Given the description of an element on the screen output the (x, y) to click on. 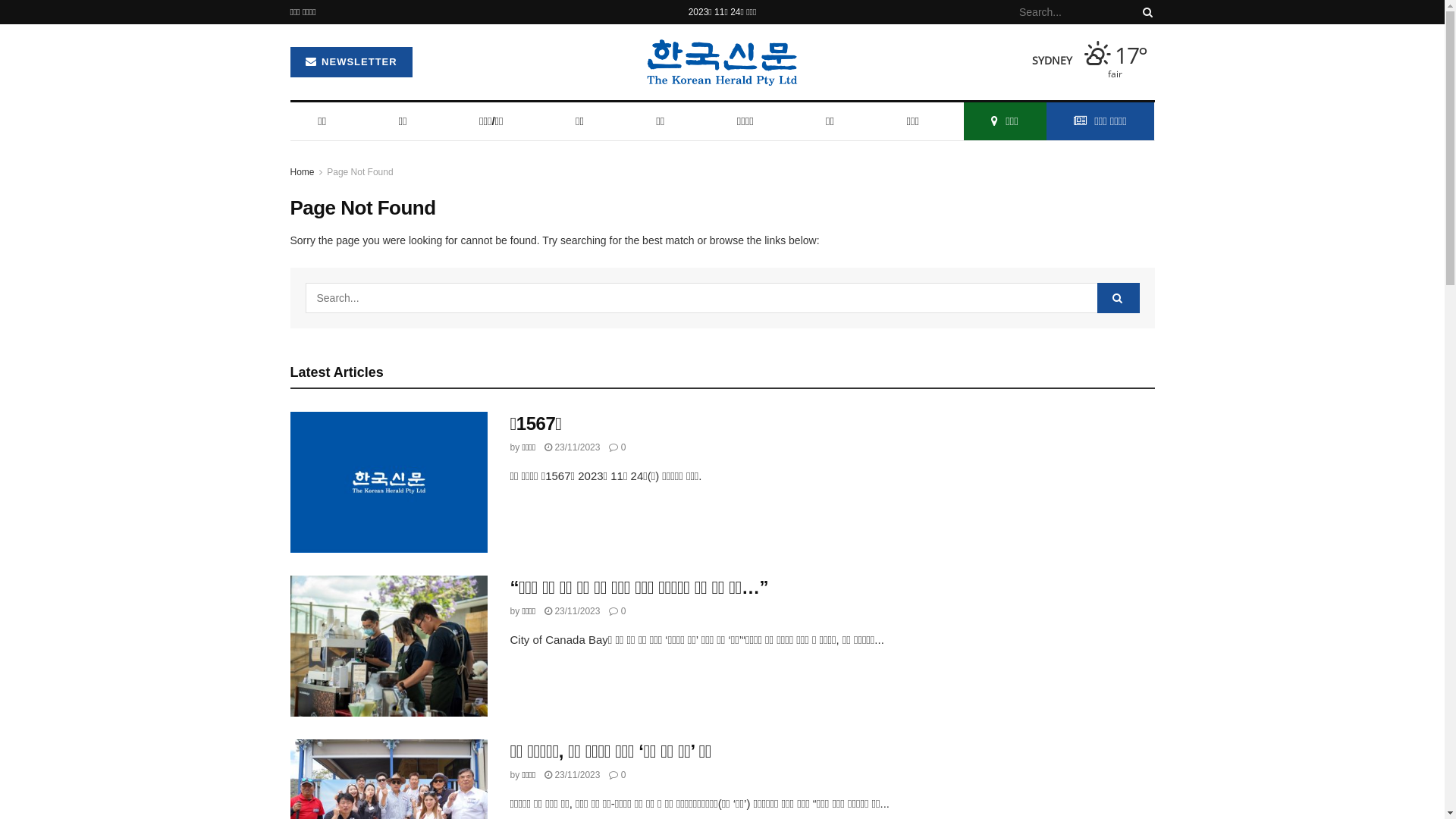
0 Element type: text (616, 610)
NEWSLETTER Element type: text (350, 62)
Home Element type: text (301, 171)
Page Not Found Element type: text (359, 171)
23/11/2023 Element type: text (571, 774)
0 Element type: text (616, 447)
23/11/2023 Element type: text (571, 447)
0 Element type: text (616, 774)
23/11/2023 Element type: text (571, 610)
